Given the description of an element on the screen output the (x, y) to click on. 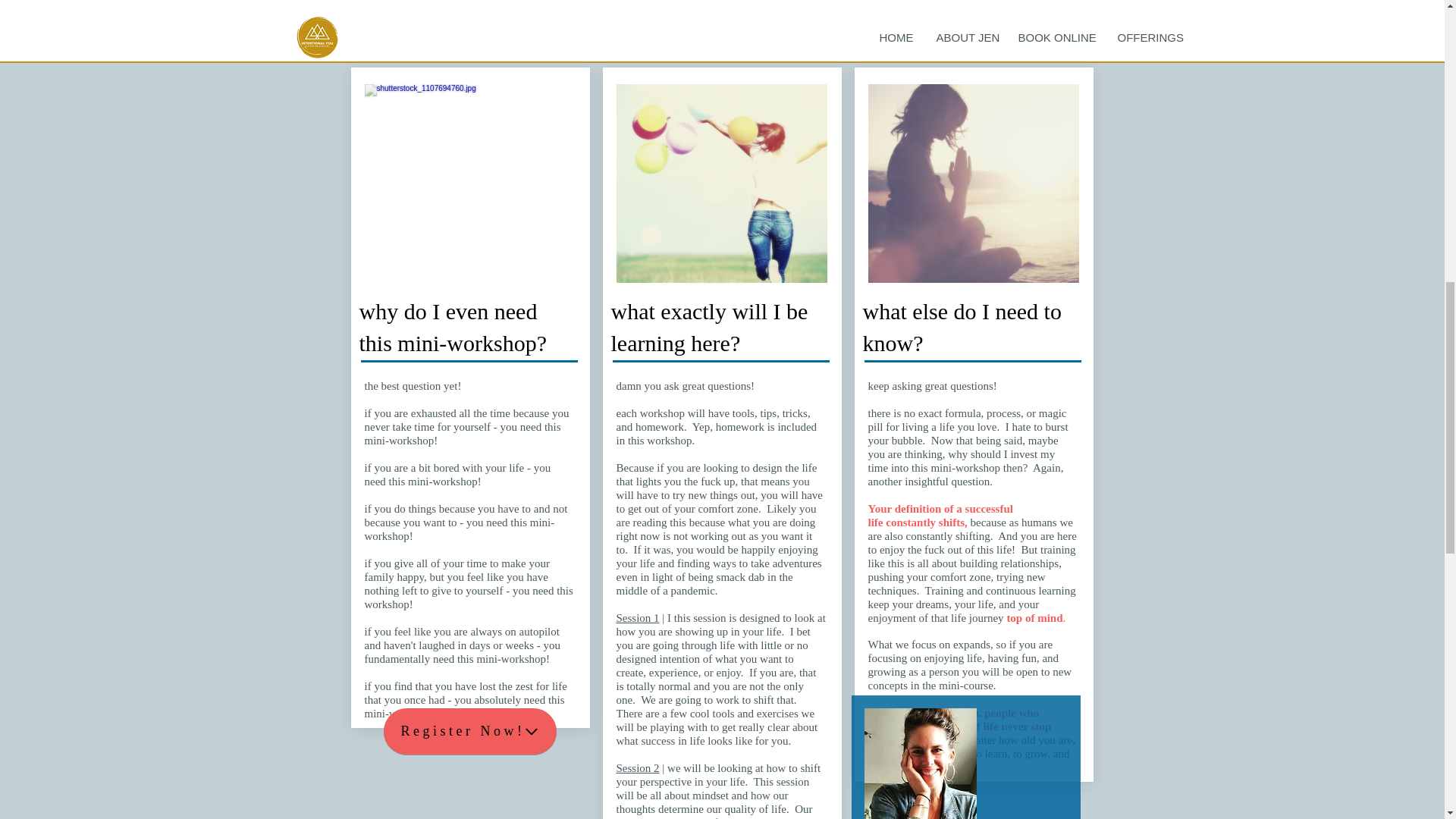
Register Now! (972, 32)
Register Now! (466, 32)
Register Now! (470, 731)
